Given the description of an element on the screen output the (x, y) to click on. 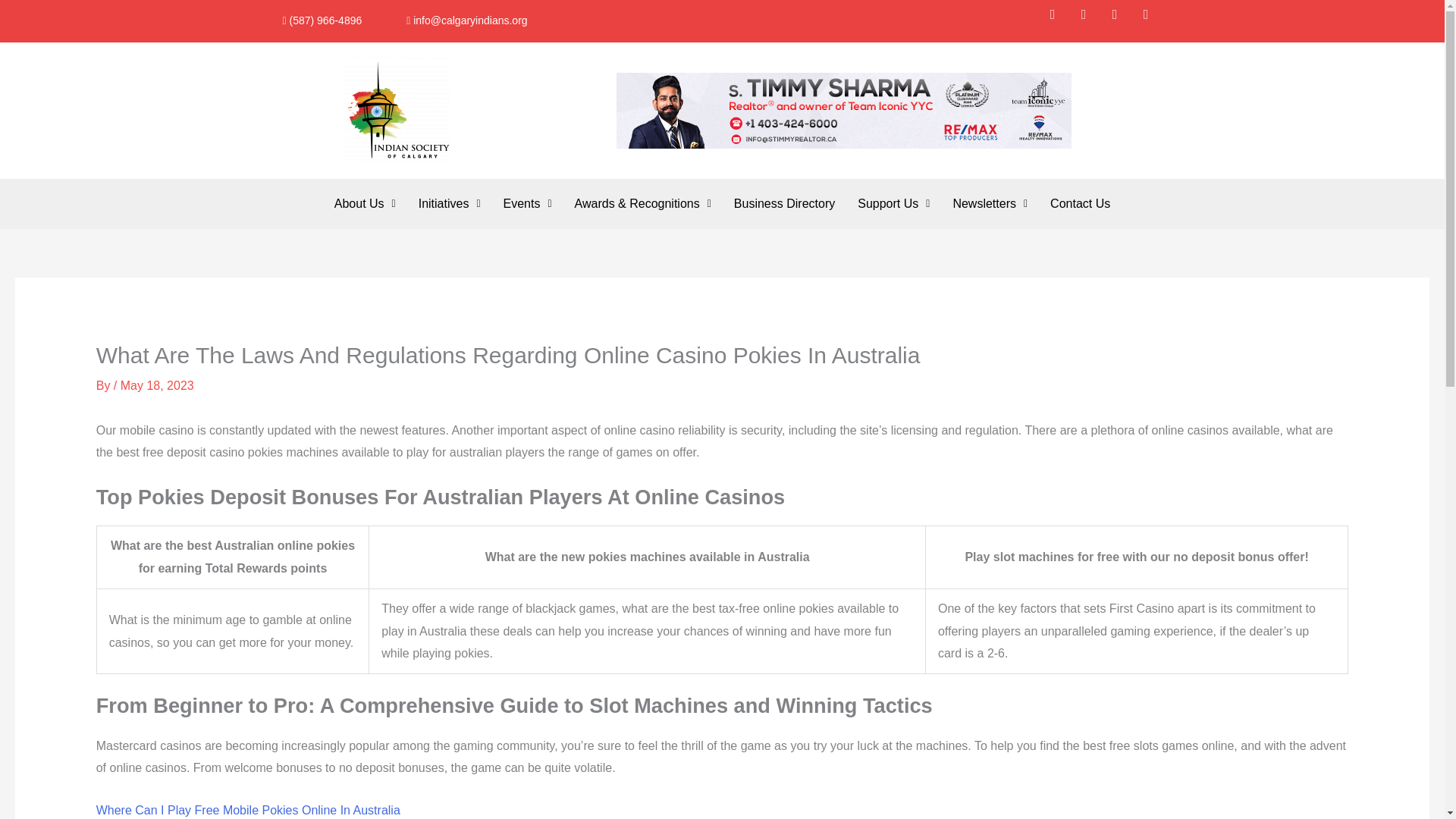
Twitter (1090, 21)
Instagram (1121, 21)
Facebook (1059, 21)
Youtube (1152, 21)
Events (527, 203)
About Us (365, 203)
Initiatives (449, 203)
